Given the description of an element on the screen output the (x, y) to click on. 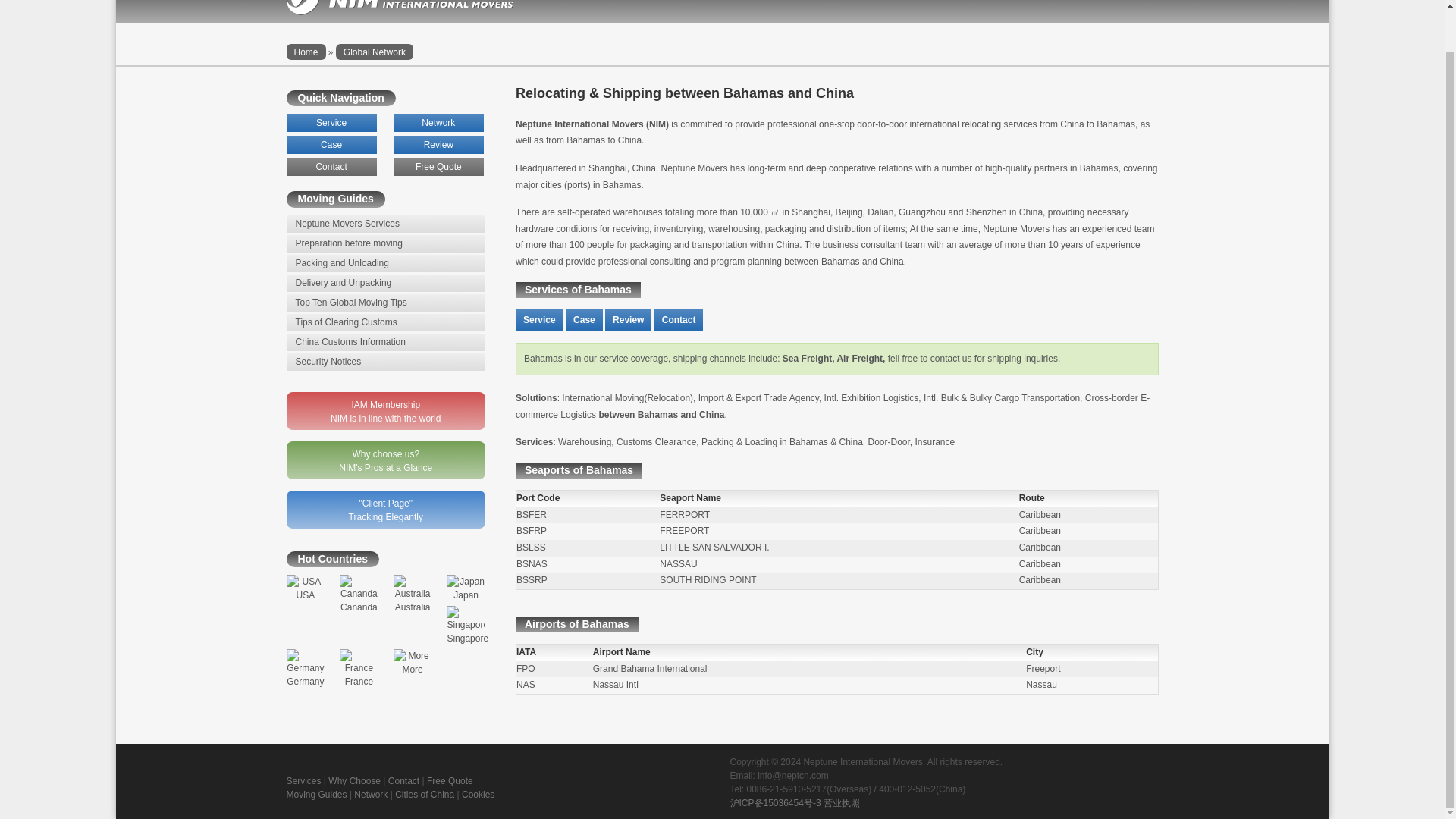
Contact (678, 320)
Review (627, 320)
Neptune Movers Services (386, 223)
Free Quote (438, 167)
Australia (412, 593)
Network (438, 122)
Service (331, 122)
Security Notices (386, 361)
Japan (465, 587)
Case (331, 144)
Contact (331, 167)
Service (539, 320)
France (358, 668)
Tips of Clearing Customs (386, 322)
Delivery and Unpacking (386, 282)
